Given the description of an element on the screen output the (x, y) to click on. 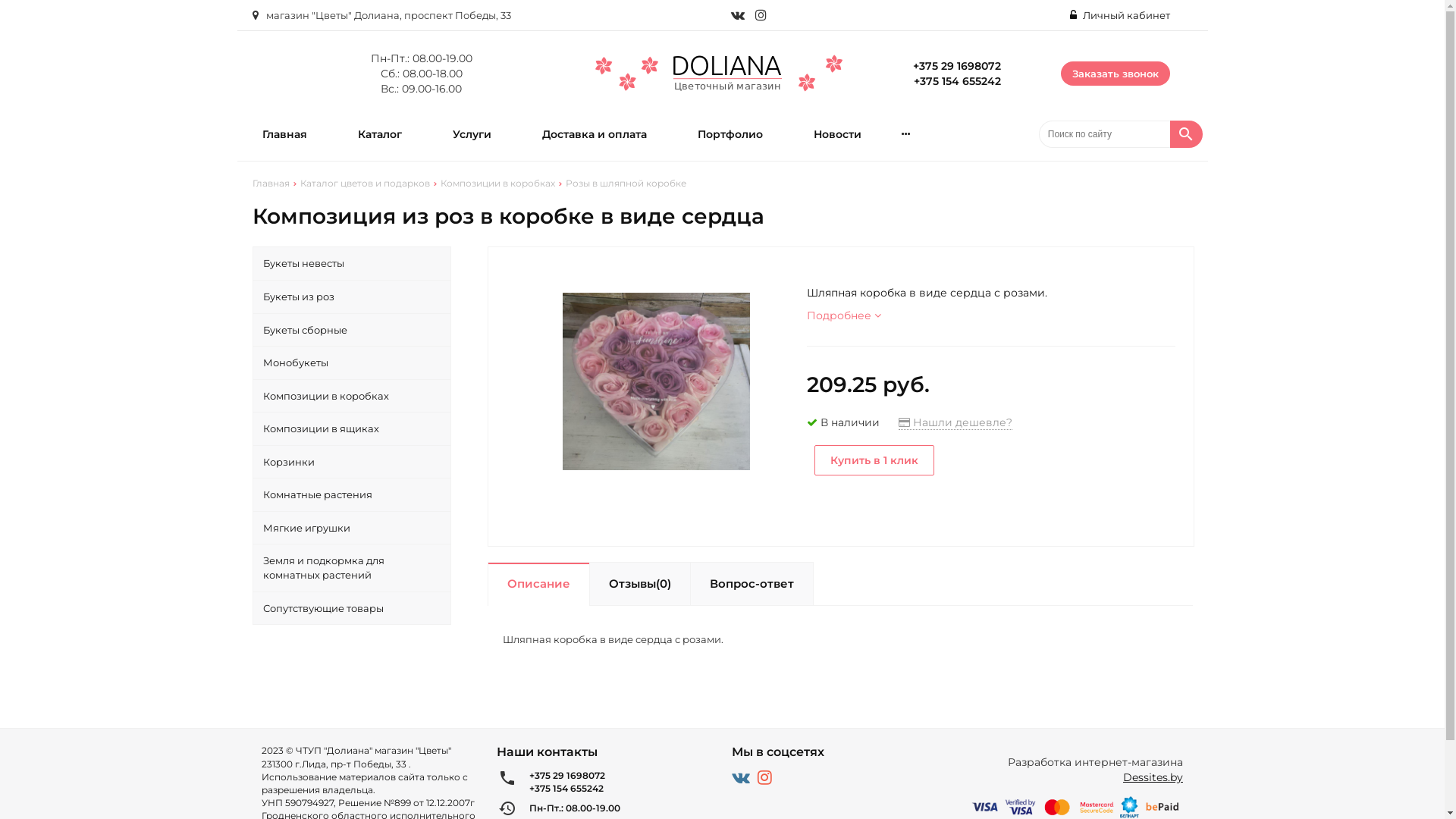
Dessites.by Element type: text (1153, 777)
search Element type: text (1186, 133)
+375 154 655242 Element type: text (620, 787)
+375 29 1698072 Element type: text (956, 65)
+375 154 655242 Element type: text (956, 80)
+375 29 1698072 Element type: text (620, 774)
